Given the description of an element on the screen output the (x, y) to click on. 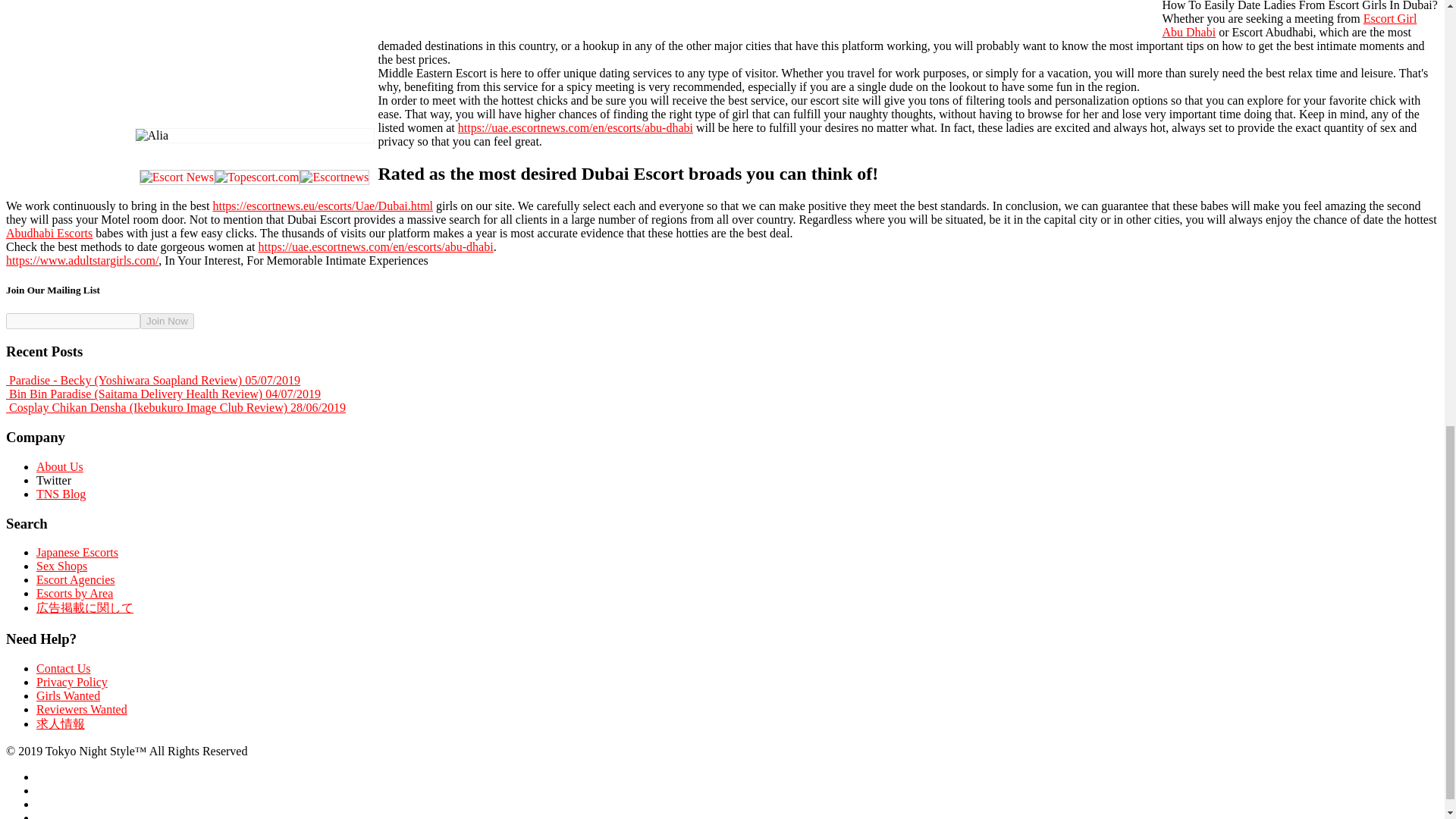
Join Now (166, 320)
Topescort.com (256, 177)
Escort News (176, 177)
Escortnews (334, 177)
